Given the description of an element on the screen output the (x, y) to click on. 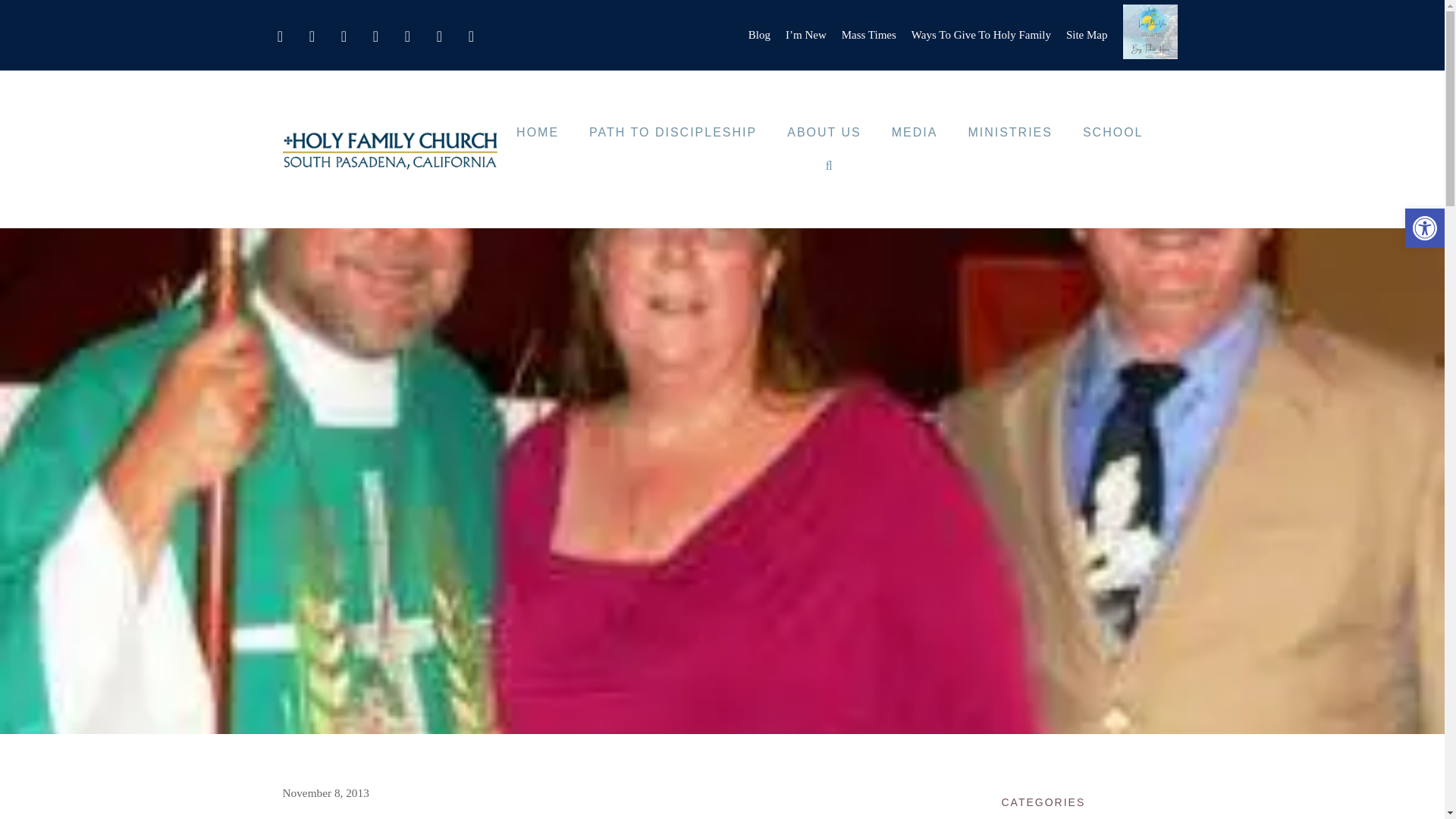
Ways To Give To Holy Family (981, 34)
Facebook (311, 32)
Yelp (470, 32)
Phone (375, 32)
YouTube (438, 32)
SCHOOL (1112, 132)
Site Map (1086, 34)
ABOUT US (823, 132)
Contact (279, 32)
Blog (759, 34)
MEDIA (914, 132)
Accessibility Tools (1424, 228)
MINISTRIES (1009, 132)
Instagram (343, 32)
Mass Times (868, 34)
